Given the description of an element on the screen output the (x, y) to click on. 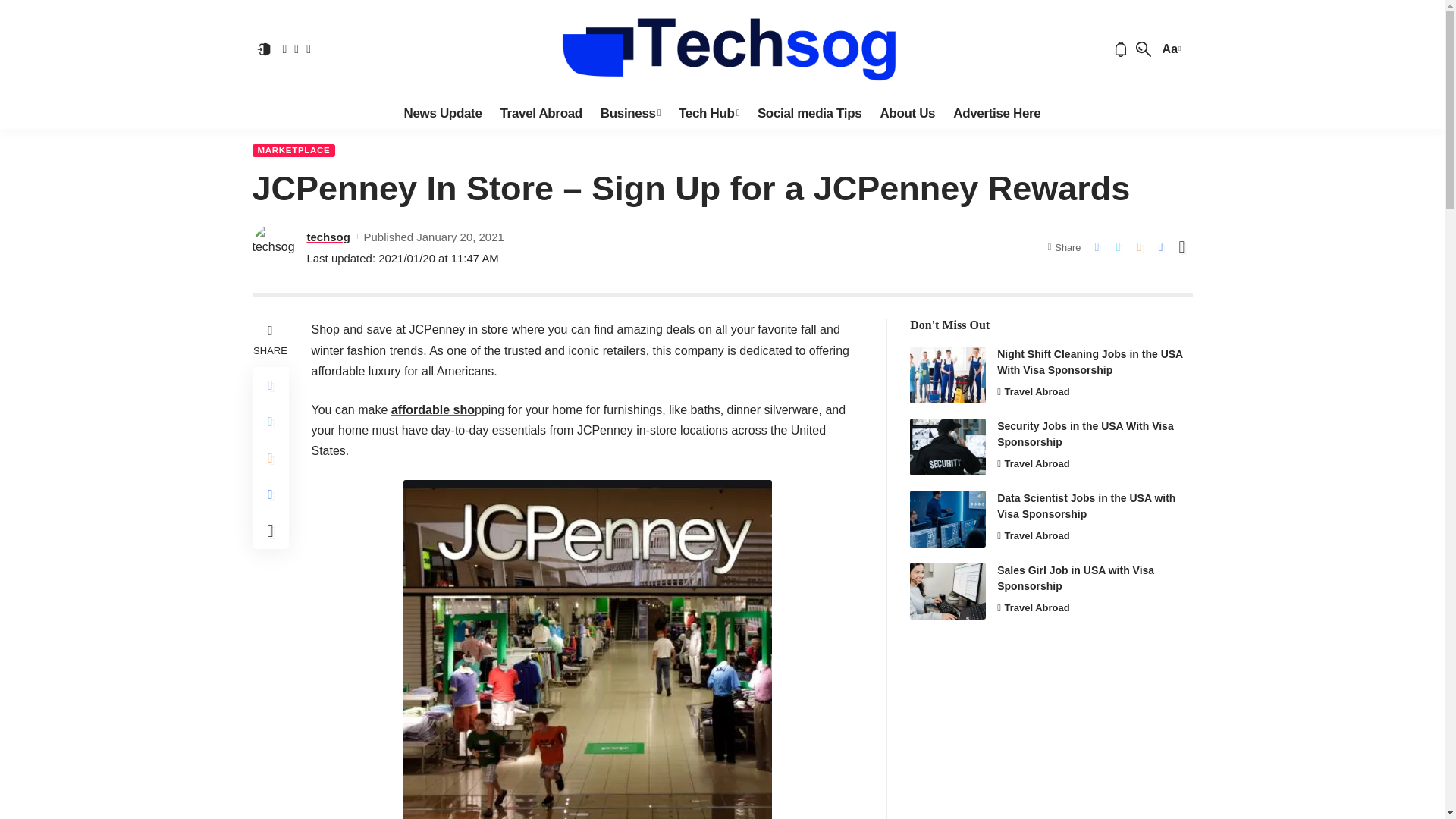
About Us (906, 113)
Tech Hub (708, 113)
Sales Girl Job in USA with Visa Sponsorship (947, 590)
Social media Tips (809, 113)
Business (630, 113)
TechSog (721, 48)
Advertise Here (996, 113)
Security Jobs in the USA With Visa Sponsorship (947, 446)
Aa (1169, 48)
News Update (442, 113)
